Given the description of an element on the screen output the (x, y) to click on. 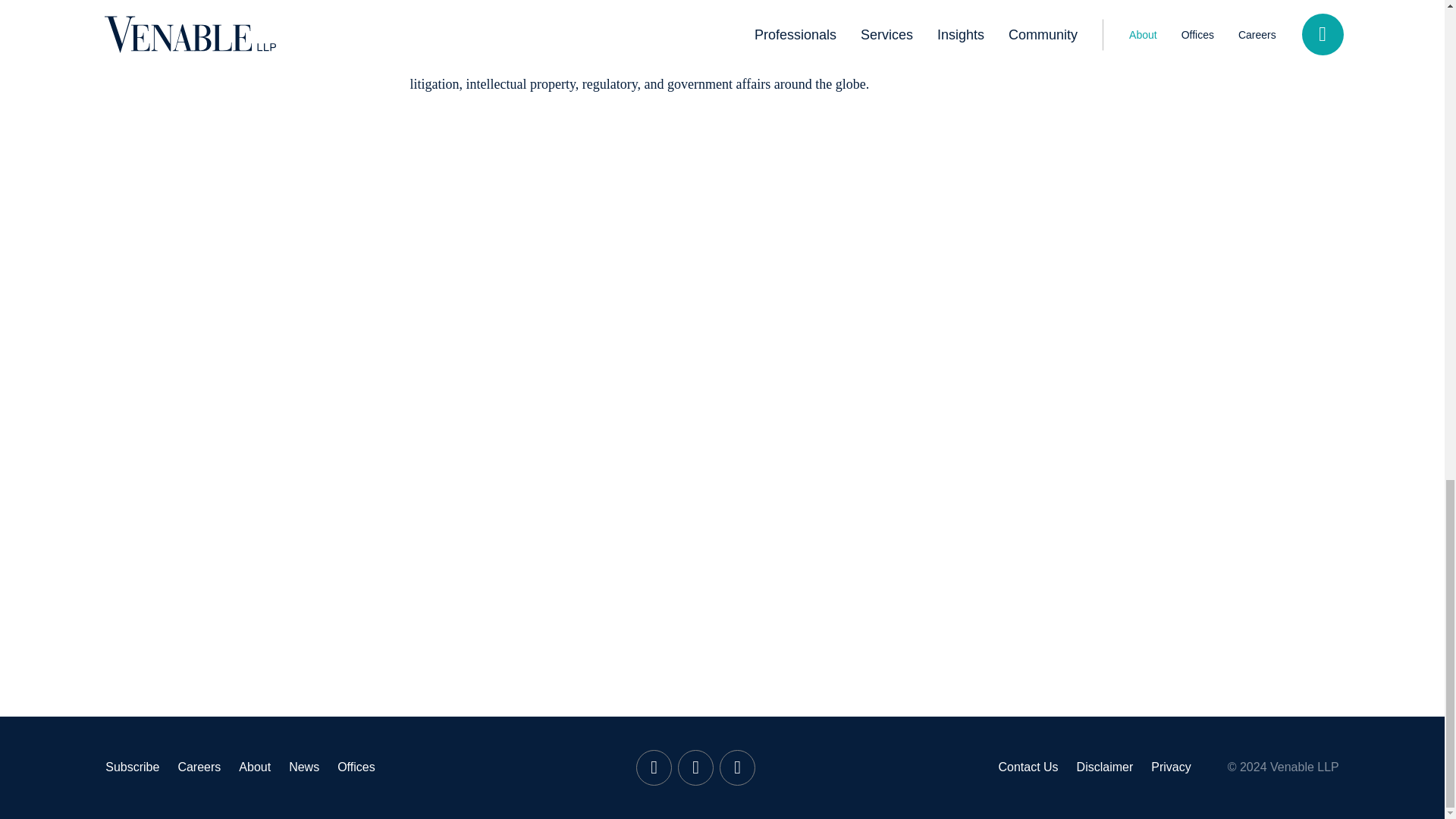
Subscribe (131, 767)
Careers (199, 767)
